Given the description of an element on the screen output the (x, y) to click on. 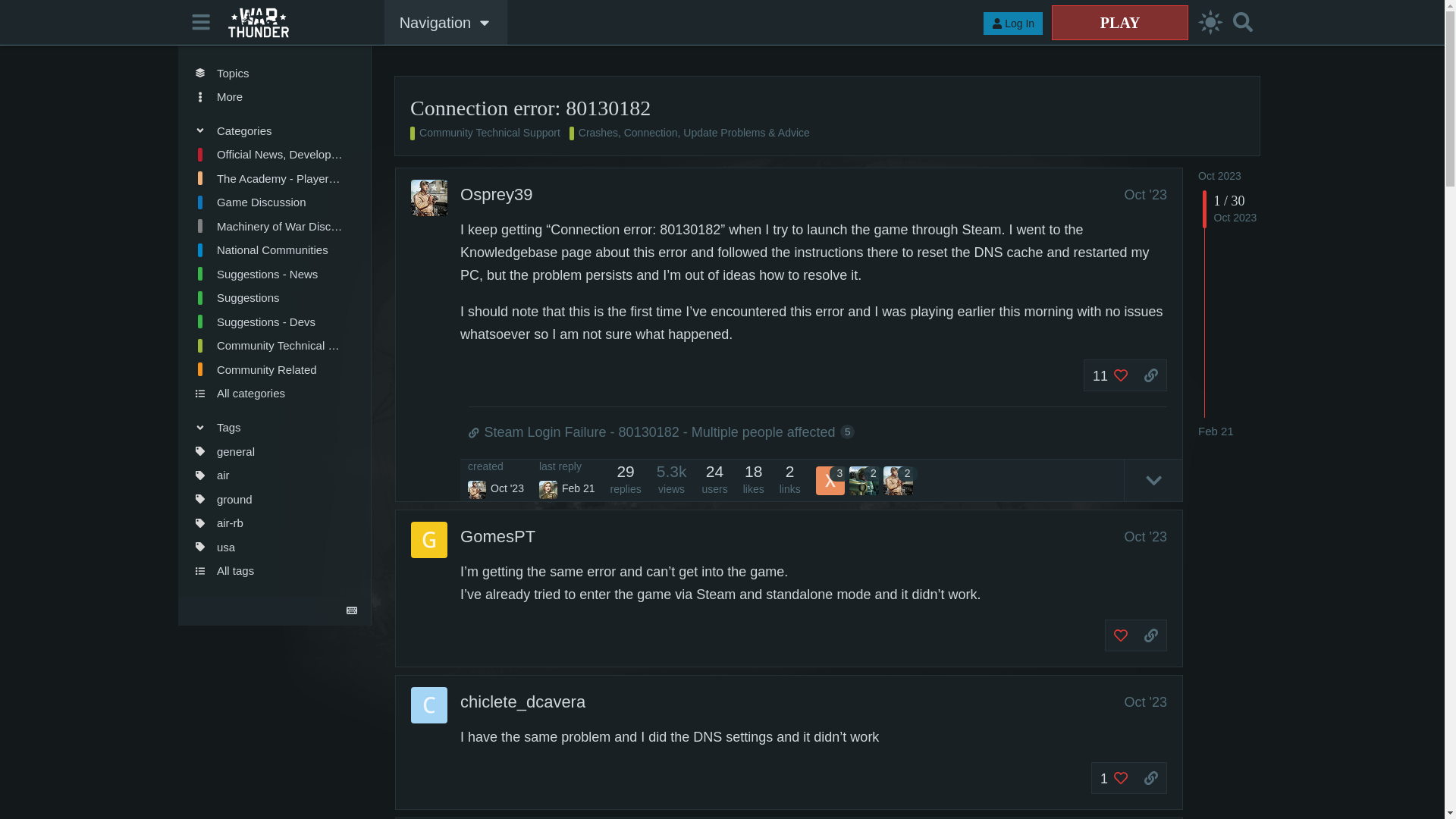
Categories (269, 130)
National Communities (268, 250)
PLAY (1119, 22)
Topics (268, 72)
usa (268, 546)
Hide sidebar (201, 21)
Log In (1013, 23)
Tags (269, 426)
More (268, 96)
Toggle color scheme (1210, 22)
Machinery of War Discussion (268, 225)
11 (1109, 375)
general (268, 450)
Suggestions - Devs (268, 322)
